Given the description of an element on the screen output the (x, y) to click on. 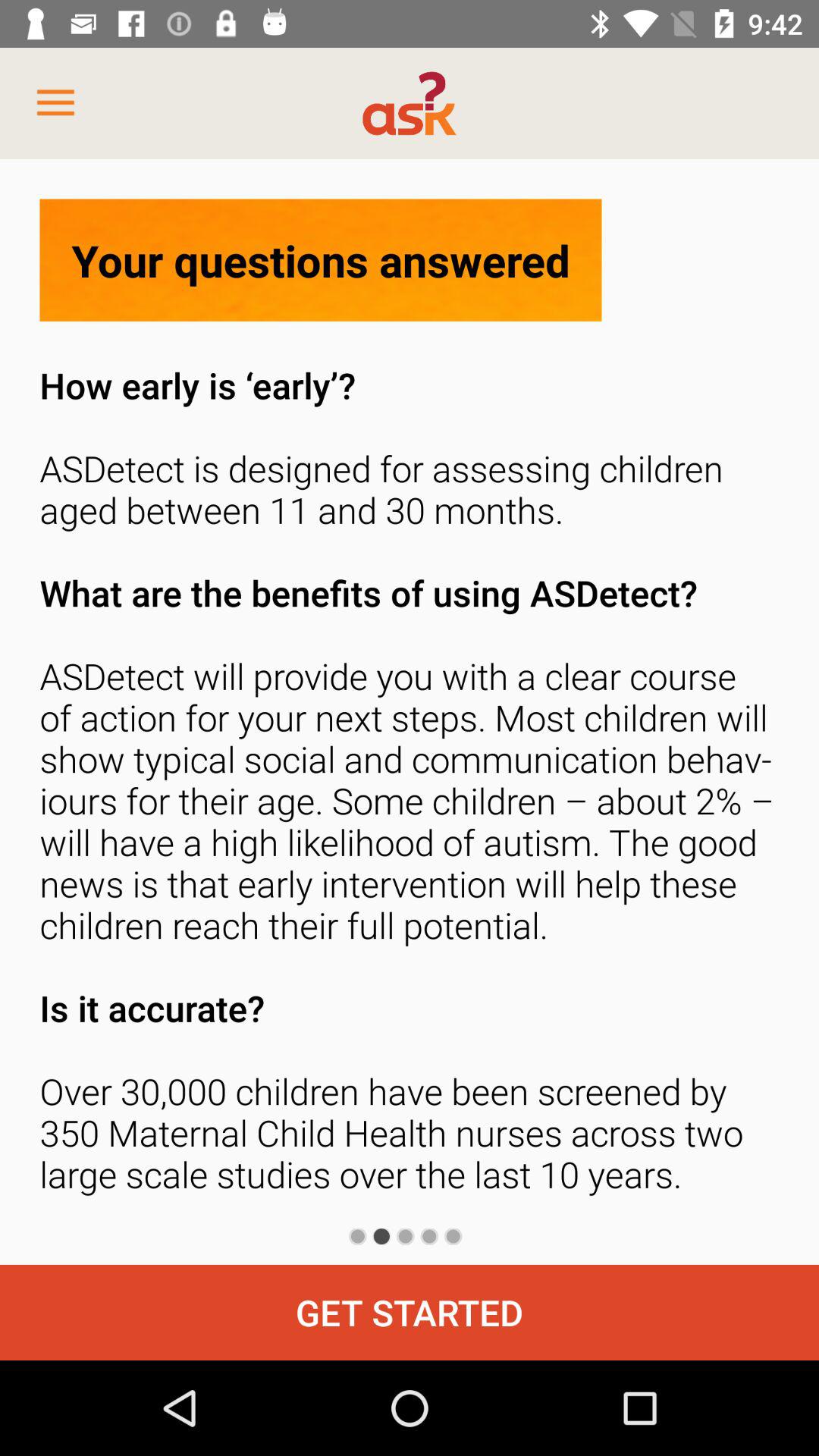
turn on the item below your questions answered icon (409, 784)
